Given the description of an element on the screen output the (x, y) to click on. 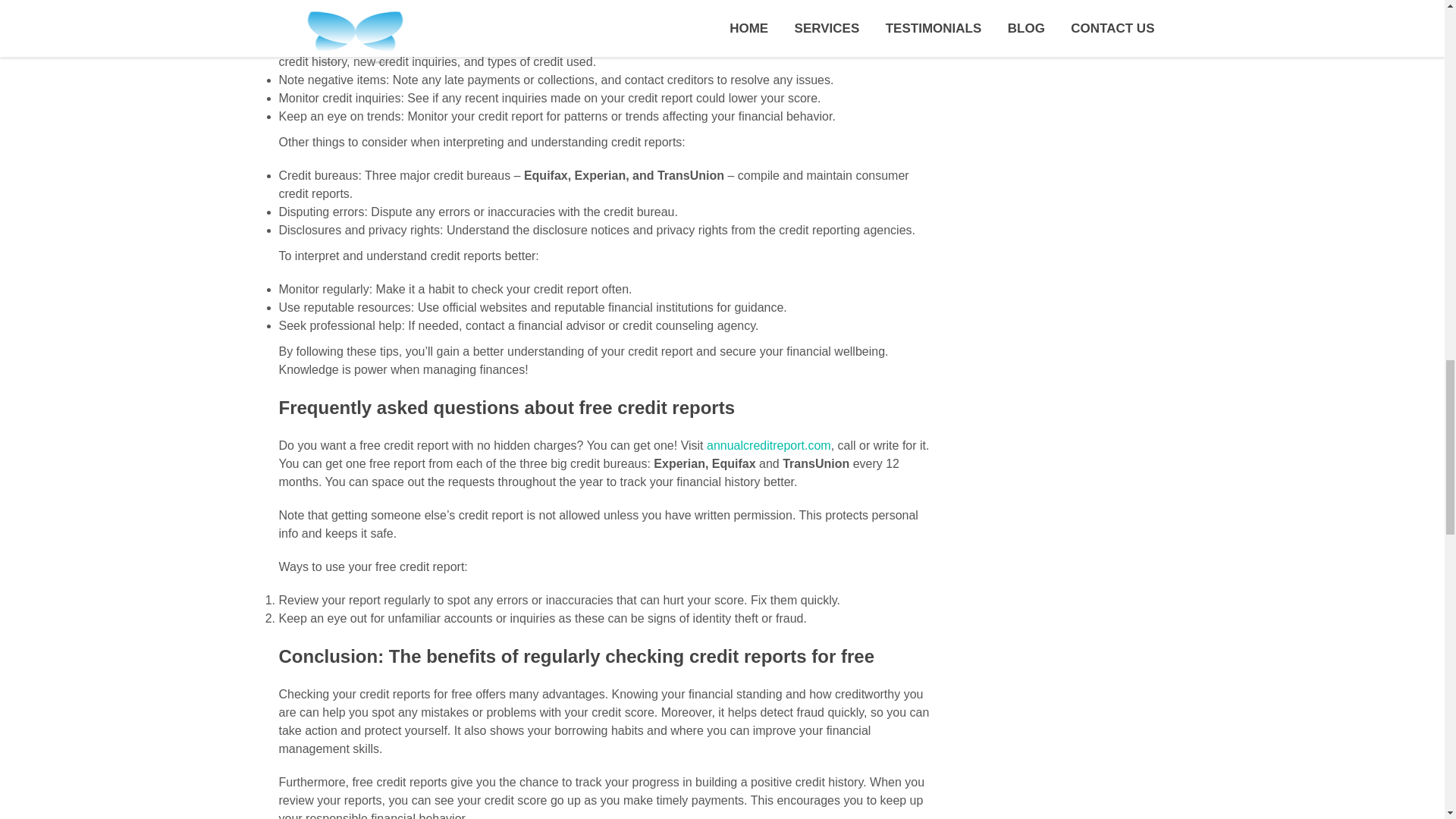
annualcreditreport.com (768, 445)
